Given the description of an element on the screen output the (x, y) to click on. 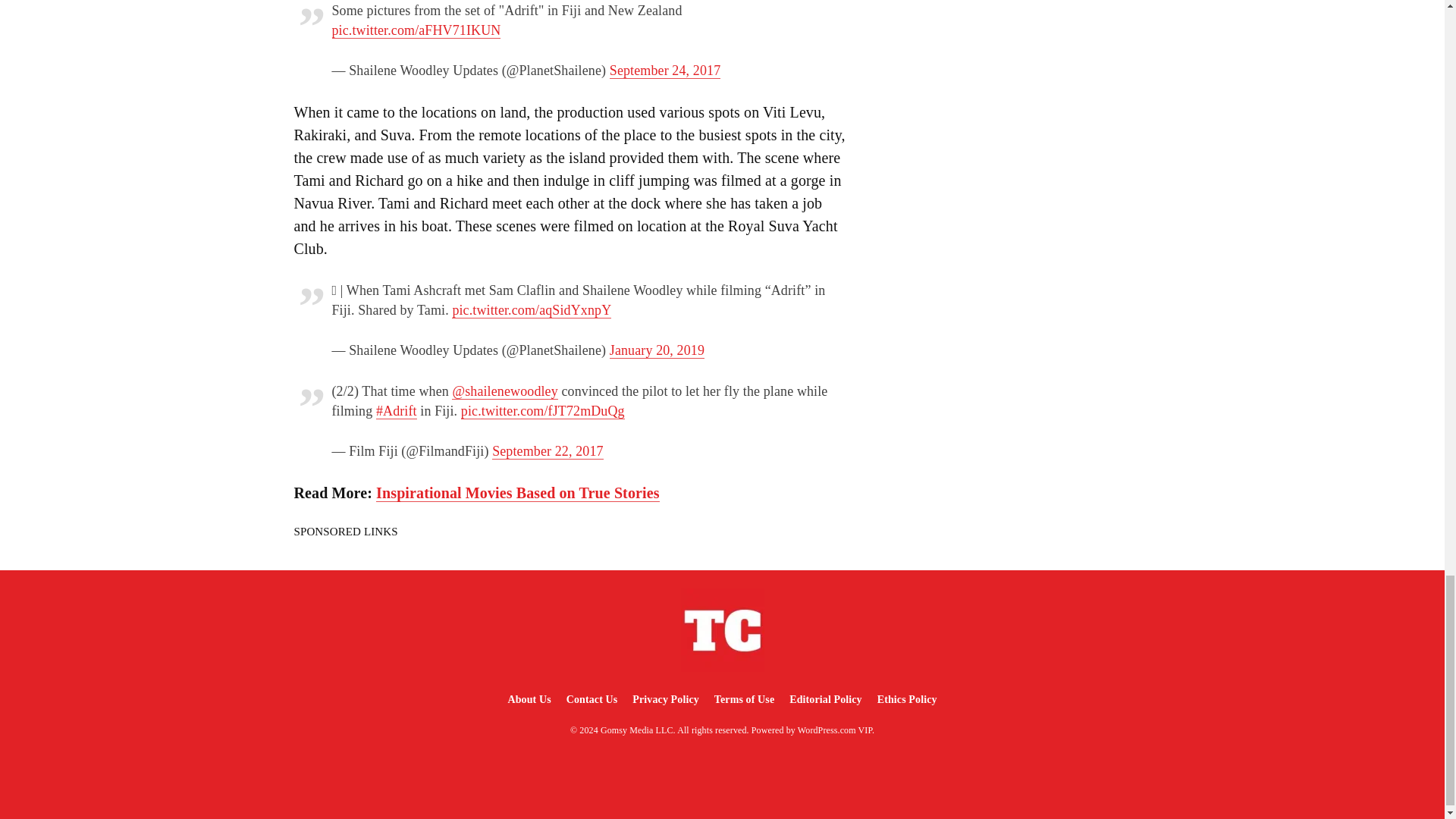
September 24, 2017 (665, 70)
Privacy Policy (665, 699)
WordPress.com VIP (834, 729)
Terms of Use (743, 699)
January 20, 2019 (657, 350)
September 22, 2017 (548, 451)
Inspirational Movies Based on True Stories (517, 493)
Contact Us (592, 699)
Ethics Policy (906, 699)
Editorial Policy (825, 699)
About Us (528, 699)
